Given the description of an element on the screen output the (x, y) to click on. 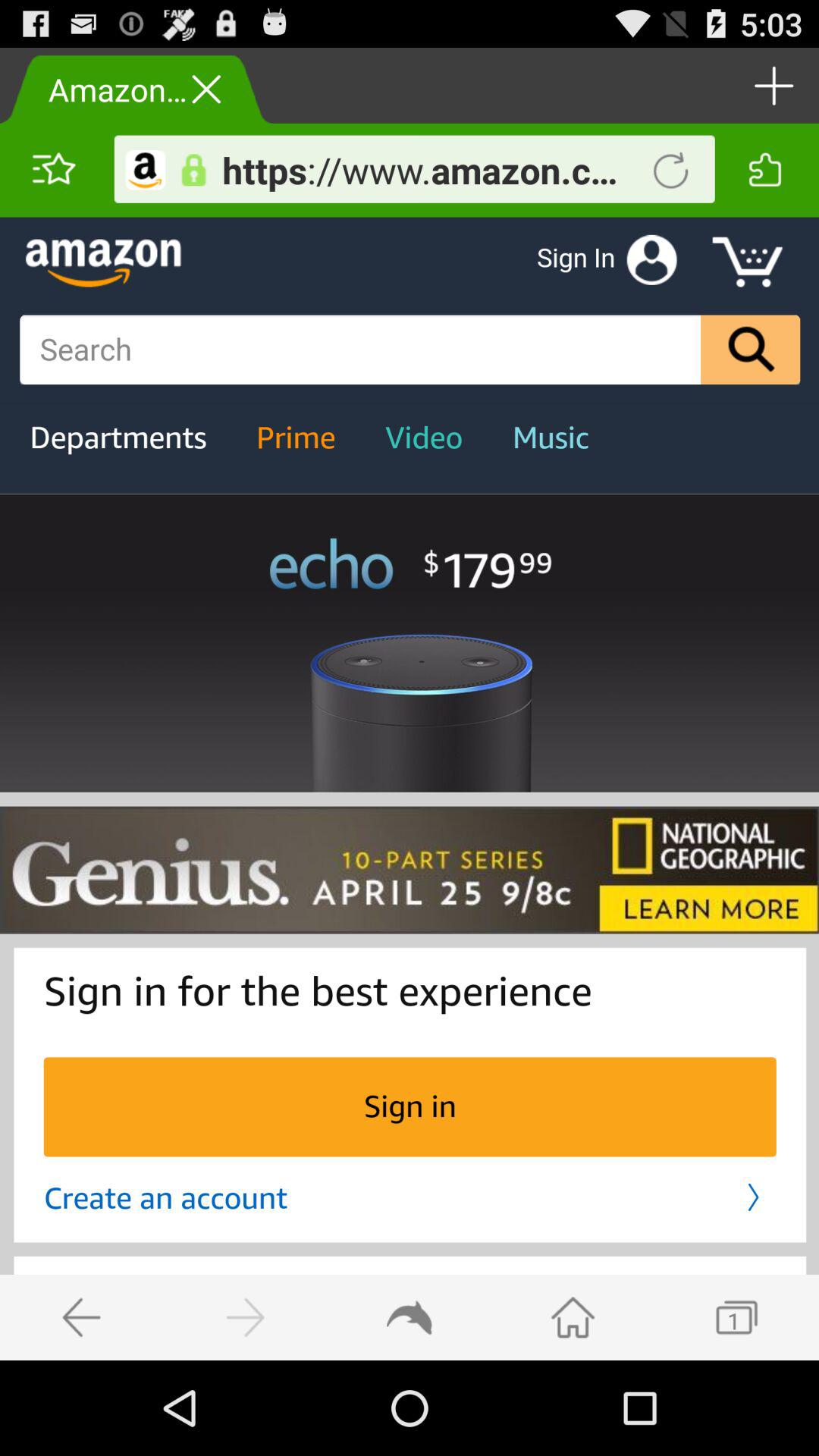
amazon button (145, 169)
